Given the description of an element on the screen output the (x, y) to click on. 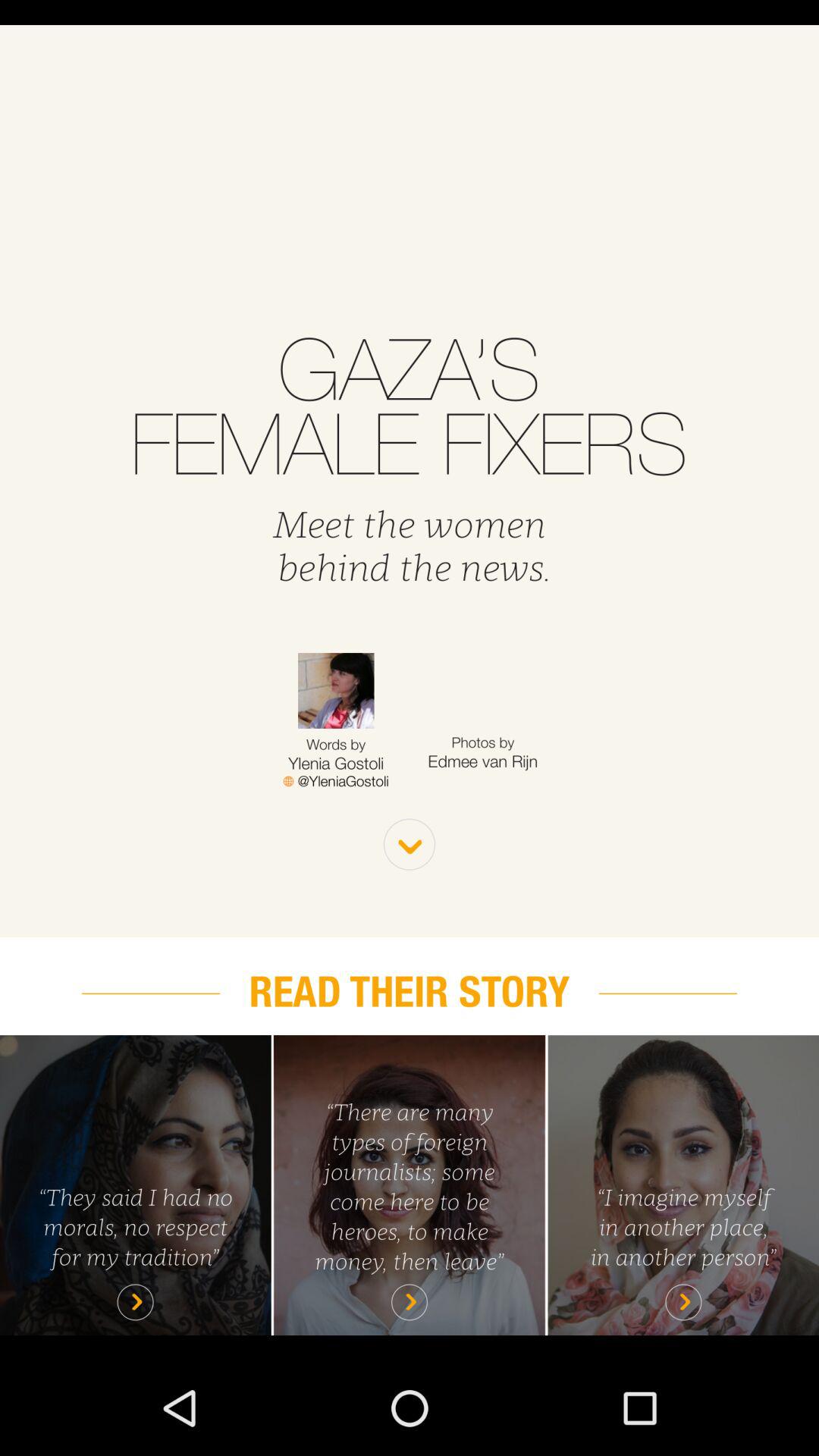
drill down into story tile (683, 1184)
